Given the description of an element on the screen output the (x, y) to click on. 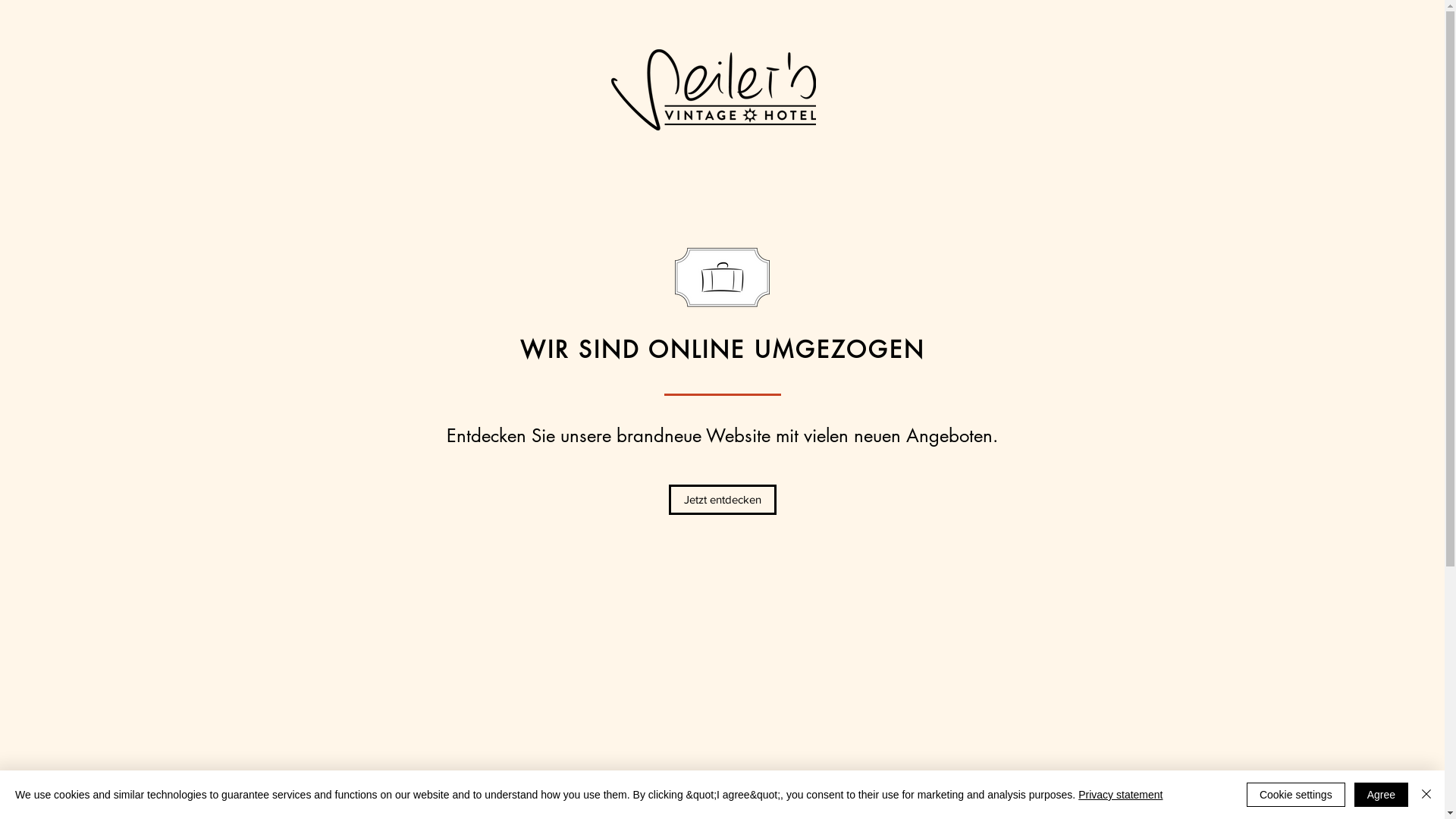
Privacy statement Element type: text (1120, 794)
Seilers-Logo-schwarz.png Element type: hover (713, 89)
Cookie settings Element type: text (1295, 794)
Jetzt entdecken Element type: text (722, 499)
Agree Element type: text (1381, 794)
